Given the description of an element on the screen output the (x, y) to click on. 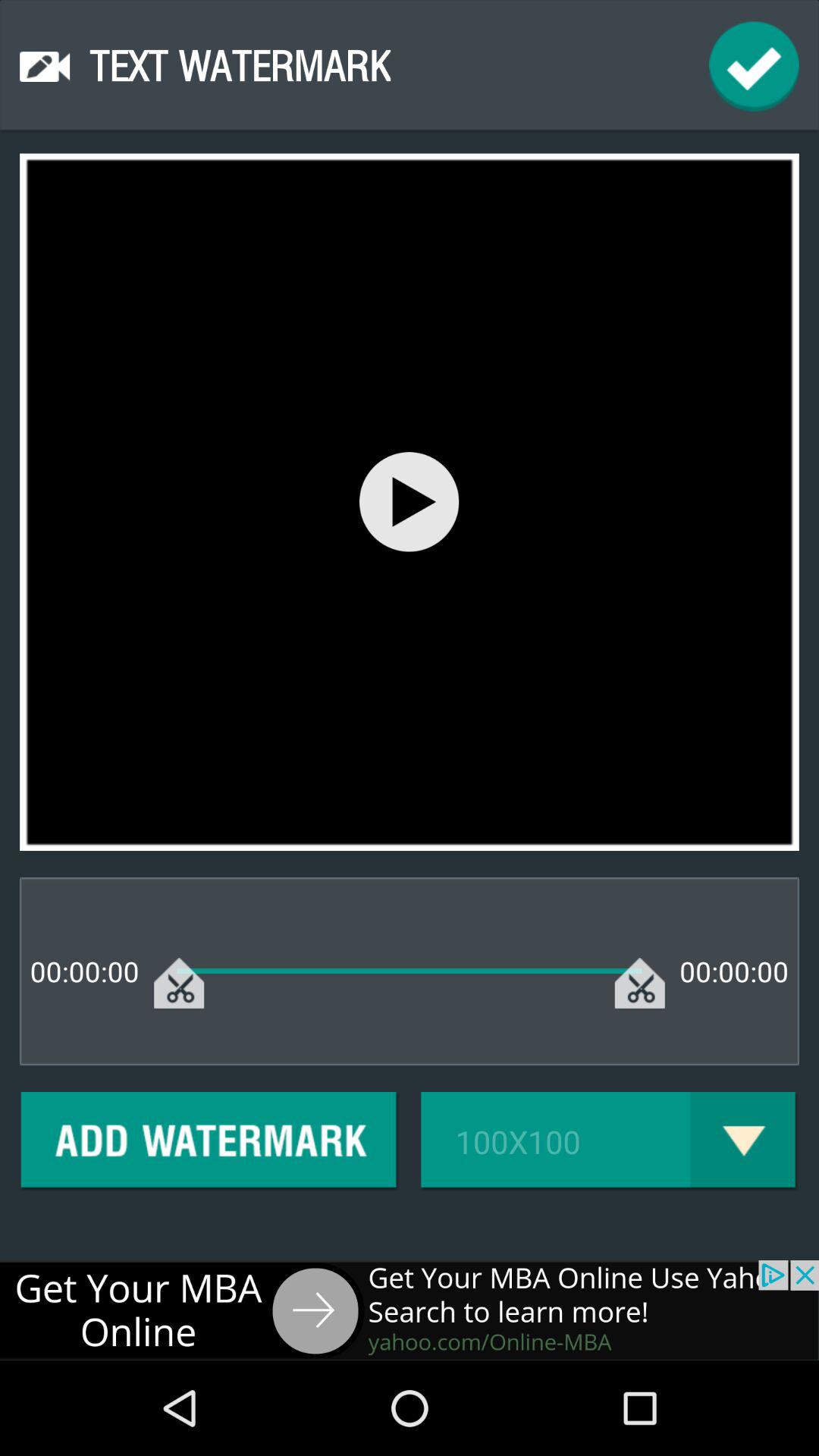
go to next (409, 1309)
